Given the description of an element on the screen output the (x, y) to click on. 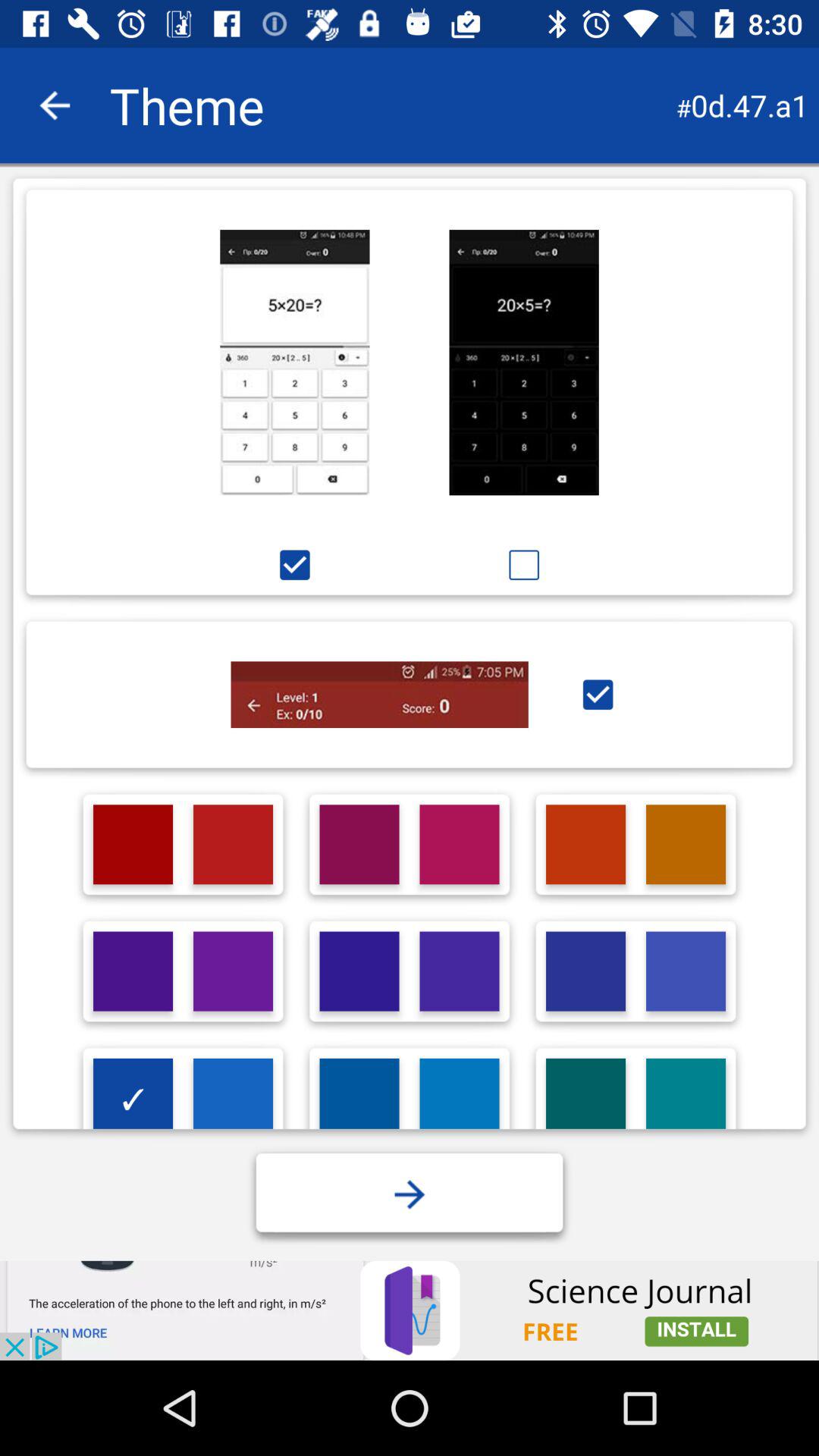
select purple shade (233, 971)
